Given the description of an element on the screen output the (x, y) to click on. 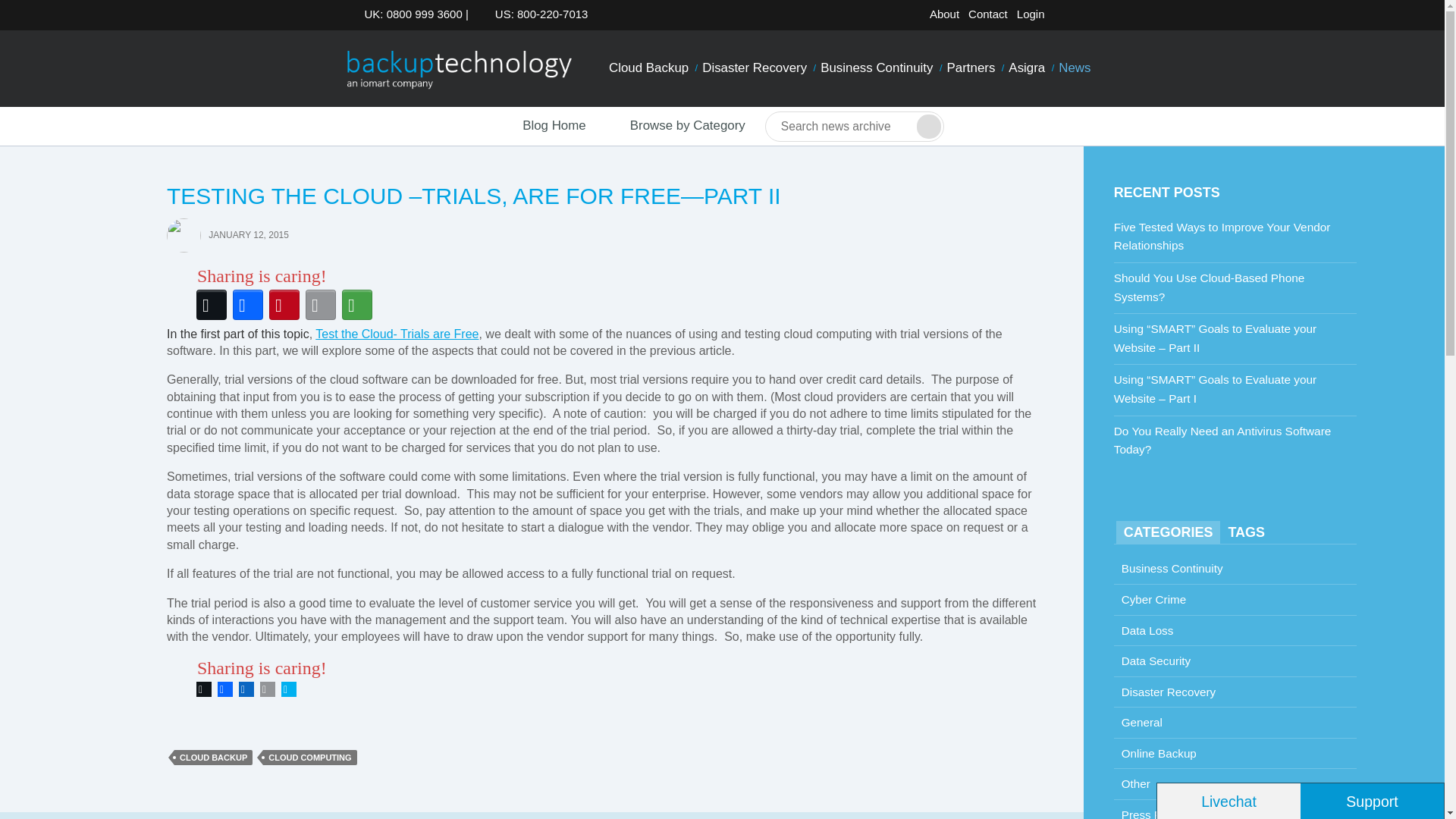
Partners (971, 68)
Facebook (248, 304)
View all posts by Damien Garvey. (183, 234)
Email This (267, 689)
Blog Home (539, 126)
Facebook (1088, 17)
More Options (357, 304)
Login (1030, 14)
Facebook (224, 689)
Contact (987, 14)
twitter (1064, 17)
Business Continuity (876, 68)
LinkedIn (246, 689)
Search (928, 126)
Cloud Backup (648, 68)
